Given the description of an element on the screen output the (x, y) to click on. 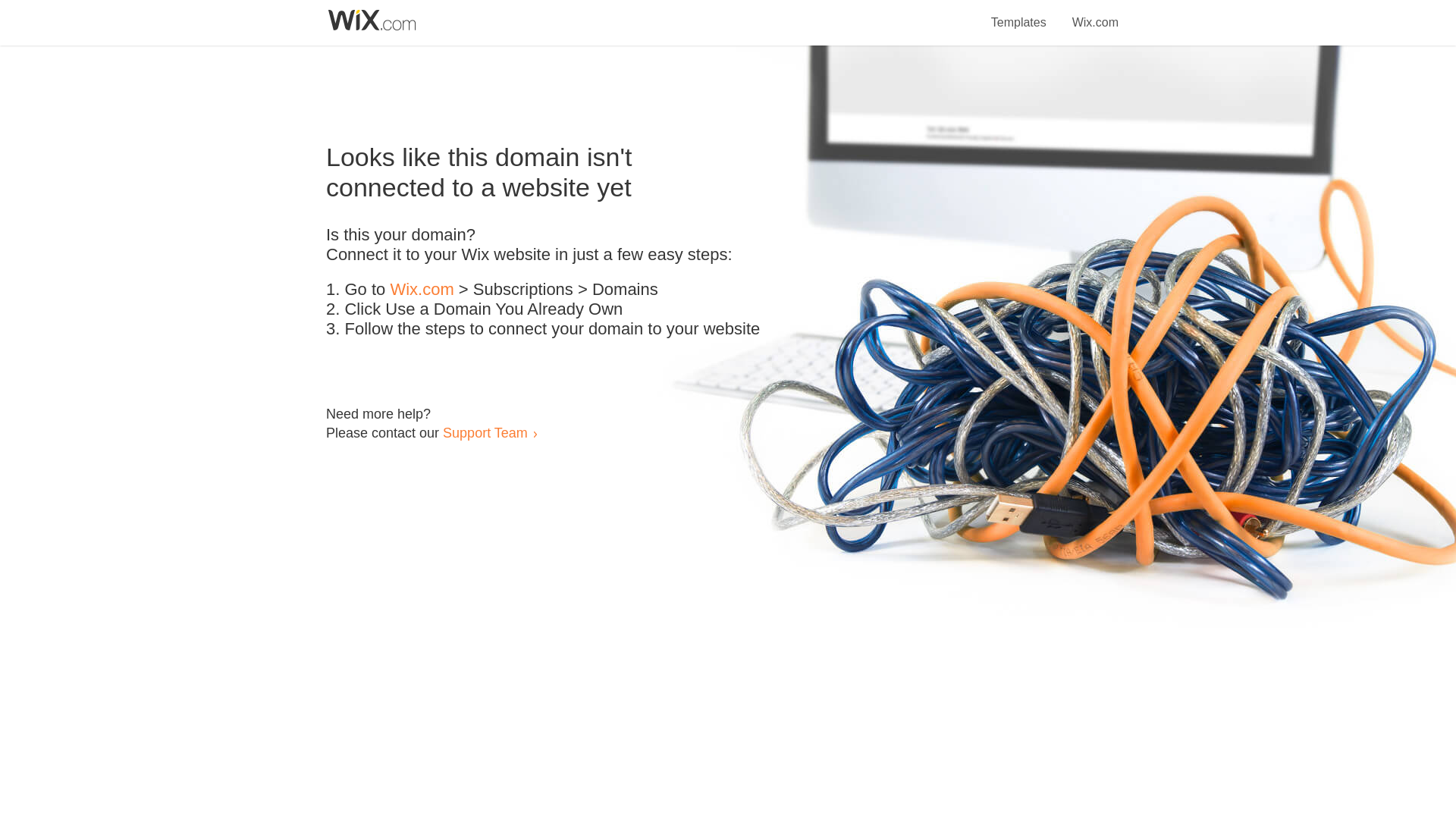
Templates (1018, 14)
Wix.com (1095, 14)
Support Team (484, 432)
Wix.com (421, 289)
